Given the description of an element on the screen output the (x, y) to click on. 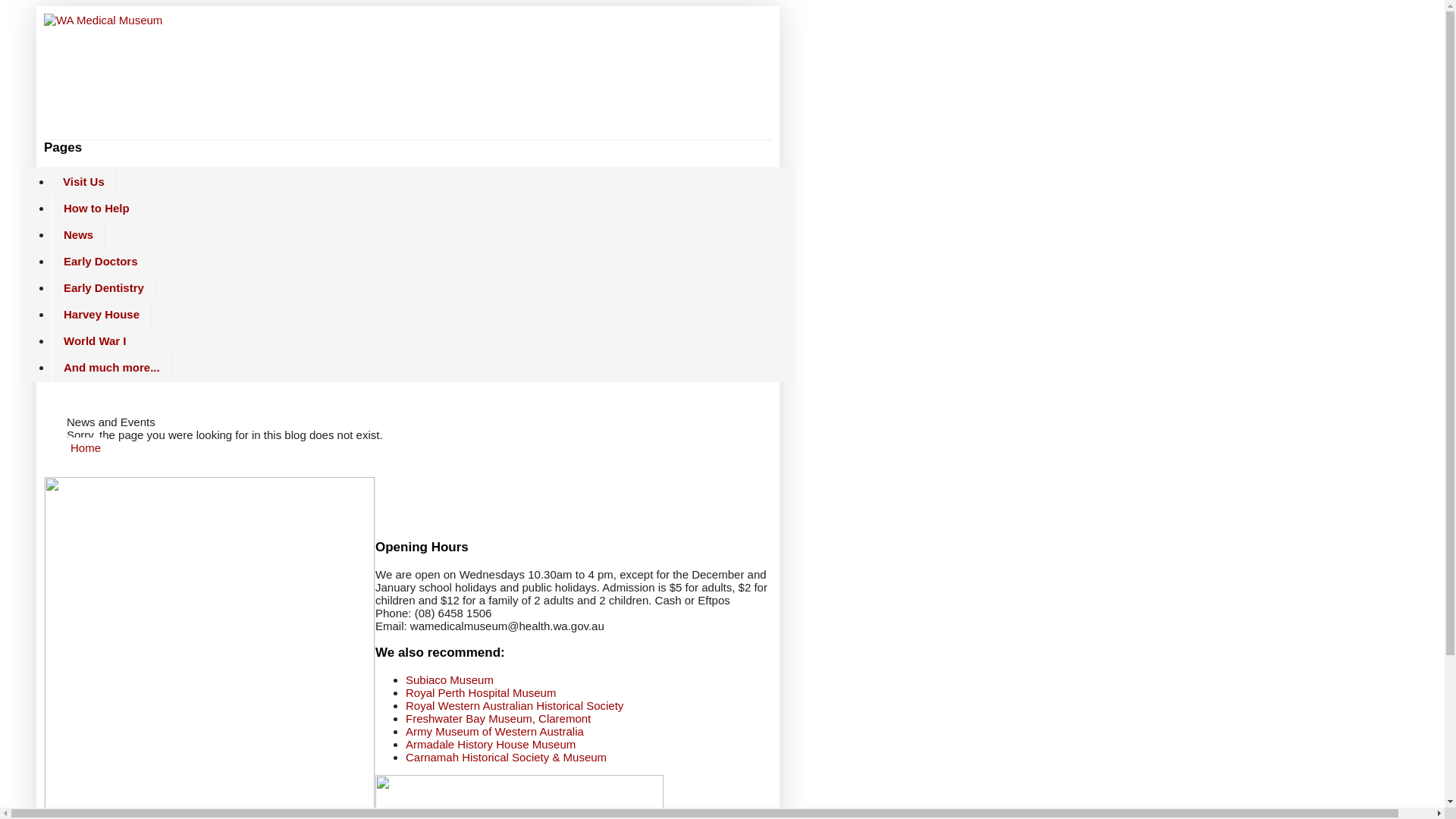
Carnamah Historical Society & Museum Element type: text (505, 756)
Subiaco Museum Element type: text (449, 679)
News Element type: text (78, 234)
Royal Western Australian Historical Society Element type: text (514, 705)
Early Dentistry Element type: text (103, 287)
And much more... Element type: text (111, 367)
World War I Element type: text (94, 340)
Early Doctors Element type: text (100, 260)
Home Element type: text (85, 447)
How to Help Element type: text (96, 207)
Armadale History House Museum Element type: text (490, 743)
Freshwater Bay Museum, Claremont Element type: text (497, 718)
Army Museum of Western Australia Element type: text (494, 730)
Visit Us Element type: text (83, 181)
Royal Perth Hospital Museum Element type: text (480, 692)
Harvey House Element type: text (101, 314)
